Given the description of an element on the screen output the (x, y) to click on. 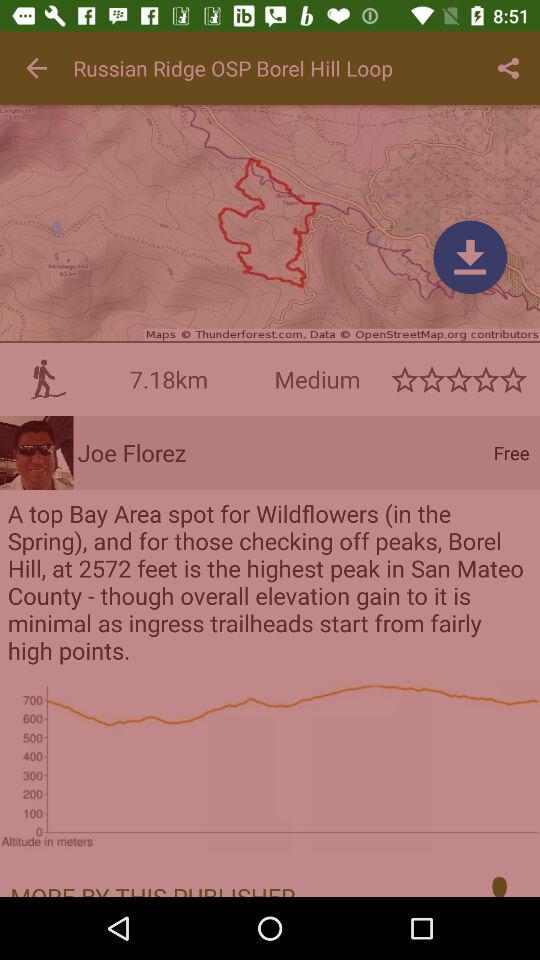
click download menu (470, 257)
